Given the description of an element on the screen output the (x, y) to click on. 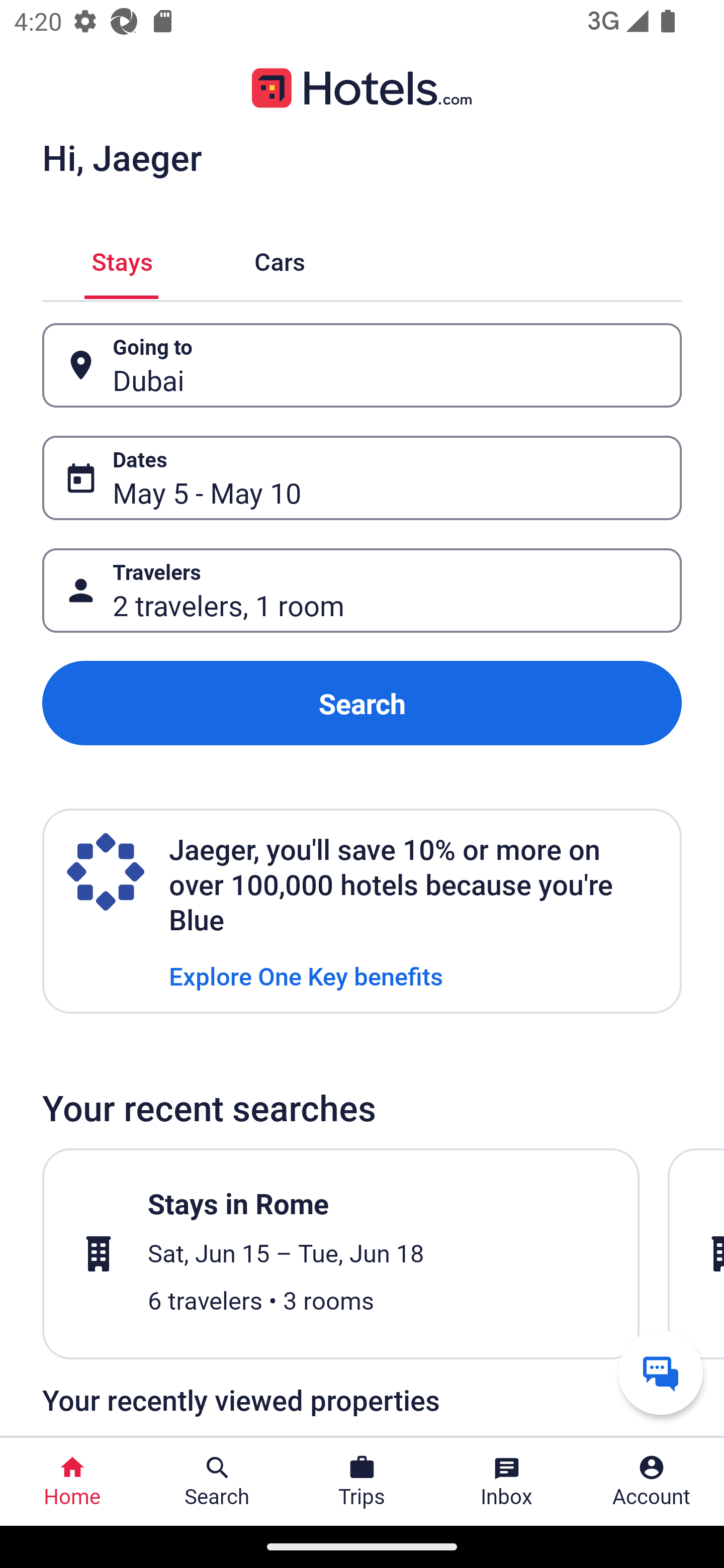
Hi, Jaeger (121, 156)
Cars (279, 259)
Going to Button Dubai (361, 365)
Dates Button May 5 - May 10 (361, 477)
Travelers Button 2 travelers, 1 room (361, 590)
Search (361, 702)
Get help from a virtual agent (660, 1371)
Search Search Button (216, 1481)
Trips Trips Button (361, 1481)
Inbox Inbox Button (506, 1481)
Account Profile. Button (651, 1481)
